Given the description of an element on the screen output the (x, y) to click on. 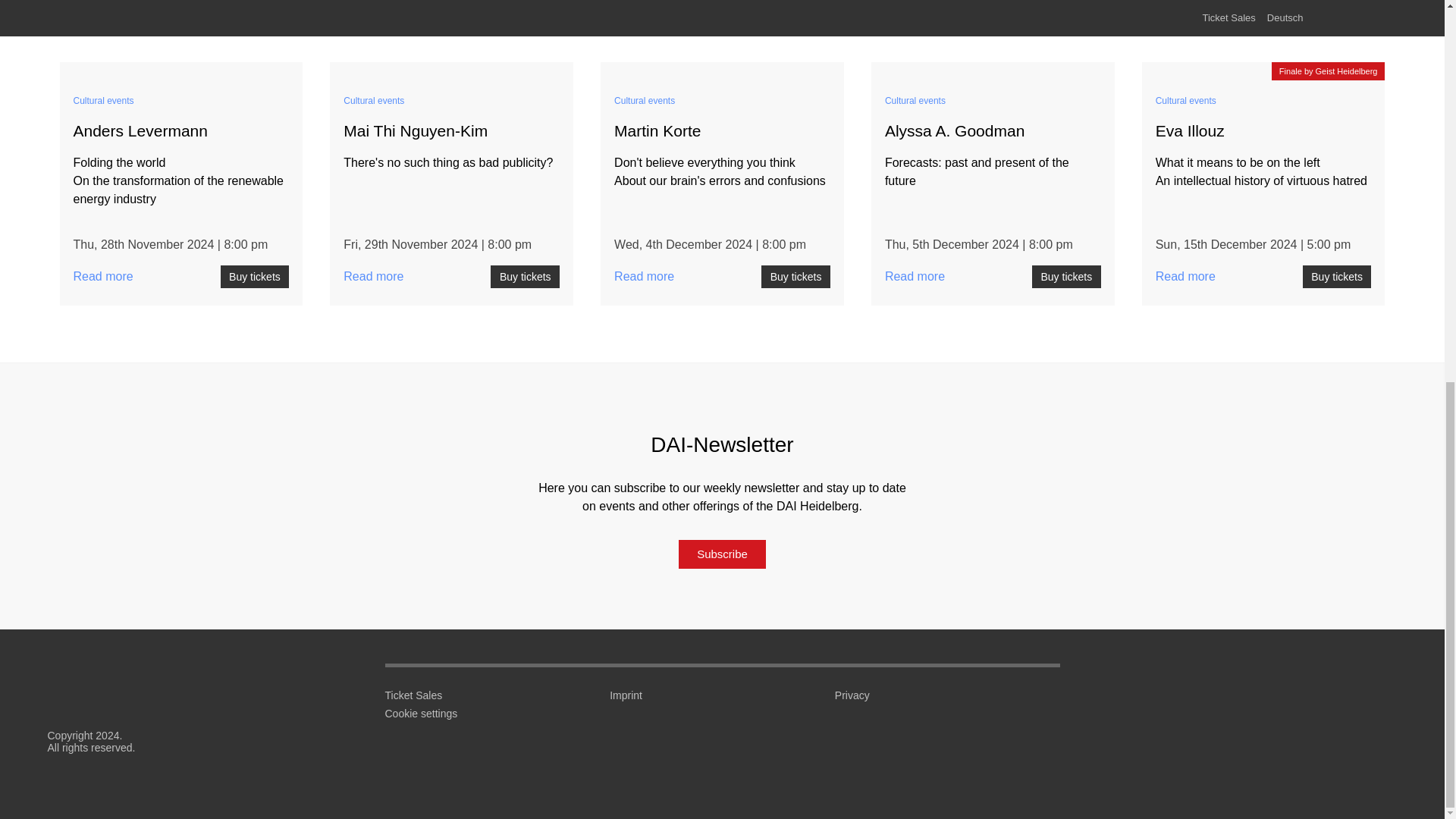
Read more (451, 71)
Read more (180, 71)
Read more (1263, 71)
Read more (992, 71)
Read more (721, 71)
